Given the description of an element on the screen output the (x, y) to click on. 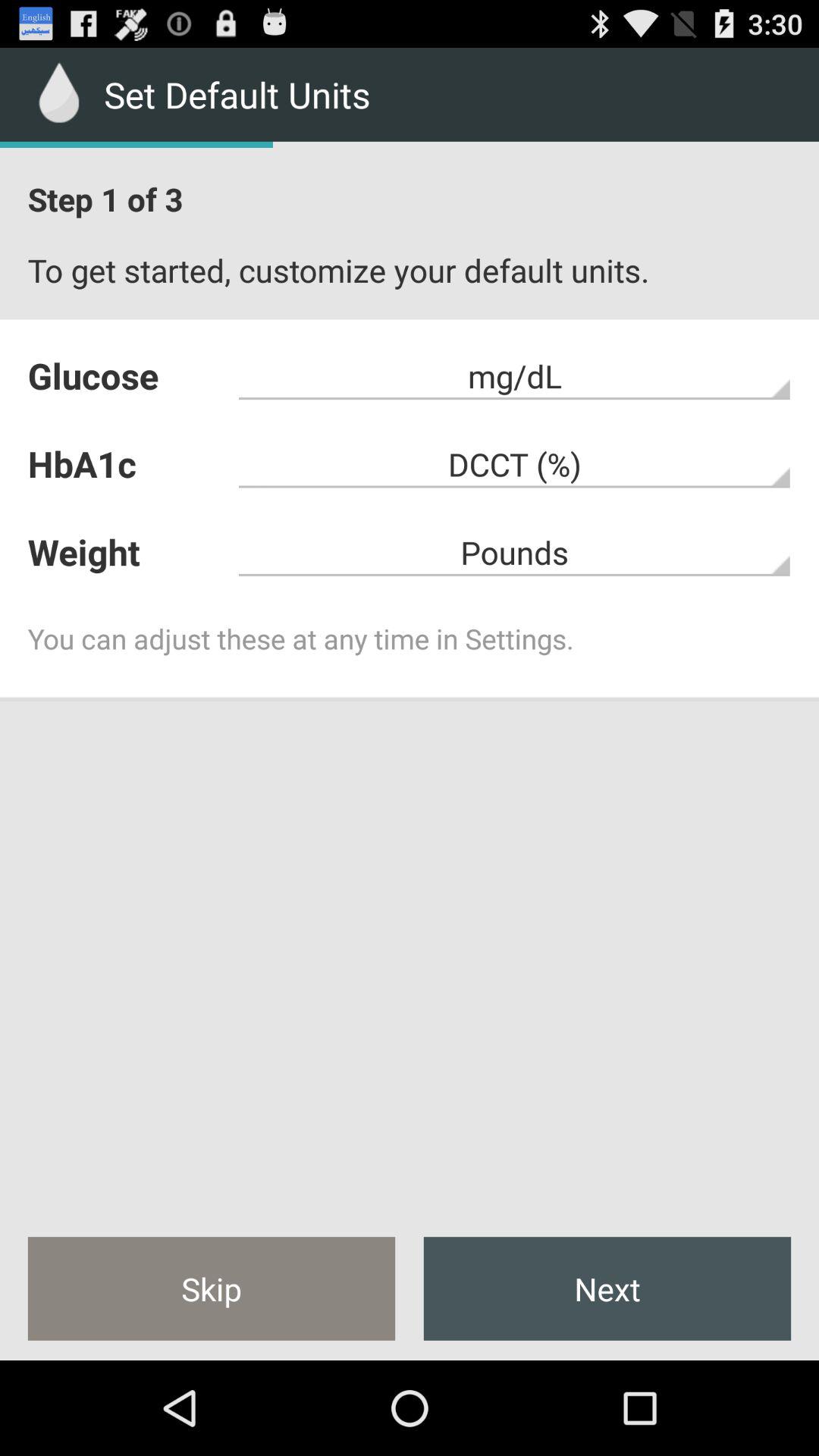
turn on the next icon (607, 1288)
